Given the description of an element on the screen output the (x, y) to click on. 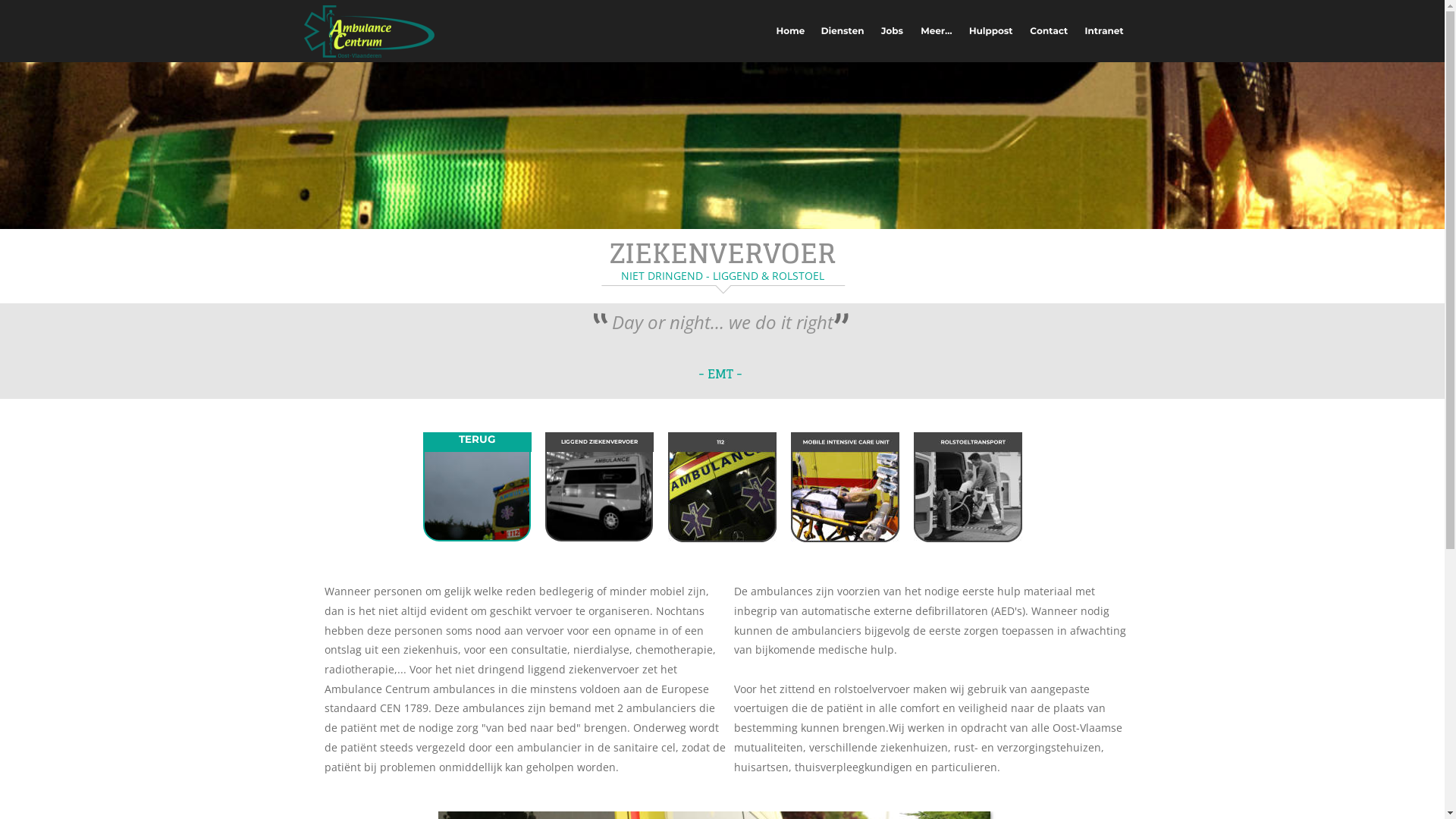
TERUG Element type: text (476, 439)
LIGGEND ZIEKENVERVOER Element type: text (599, 441)
